Given the description of an element on the screen output the (x, y) to click on. 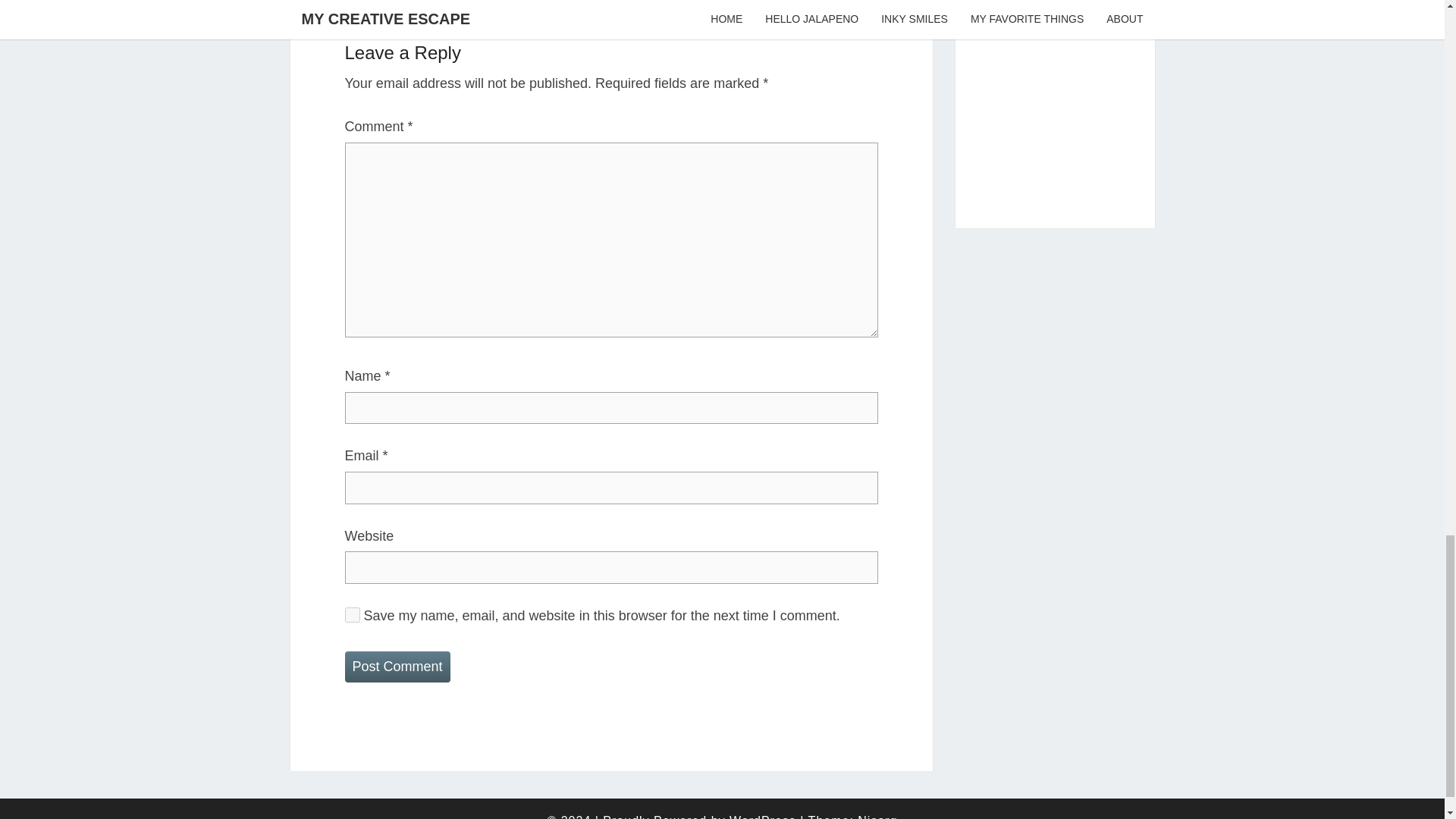
WordPress (762, 816)
Nisarg (876, 816)
Post Comment (396, 666)
yes (351, 614)
Post Comment (396, 666)
